Given the description of an element on the screen output the (x, y) to click on. 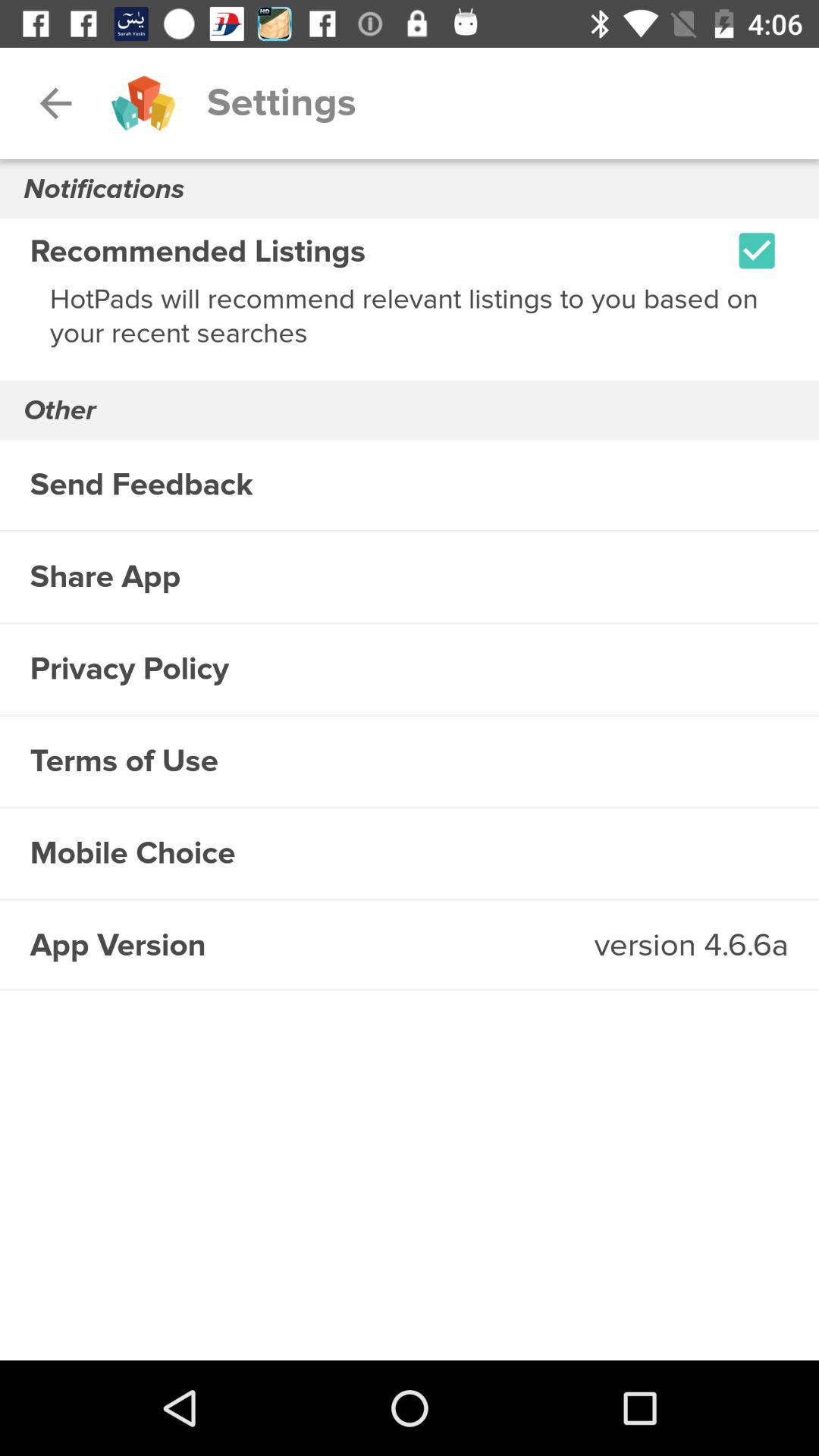
toggle check box for recommended listings (756, 250)
